Given the description of an element on the screen output the (x, y) to click on. 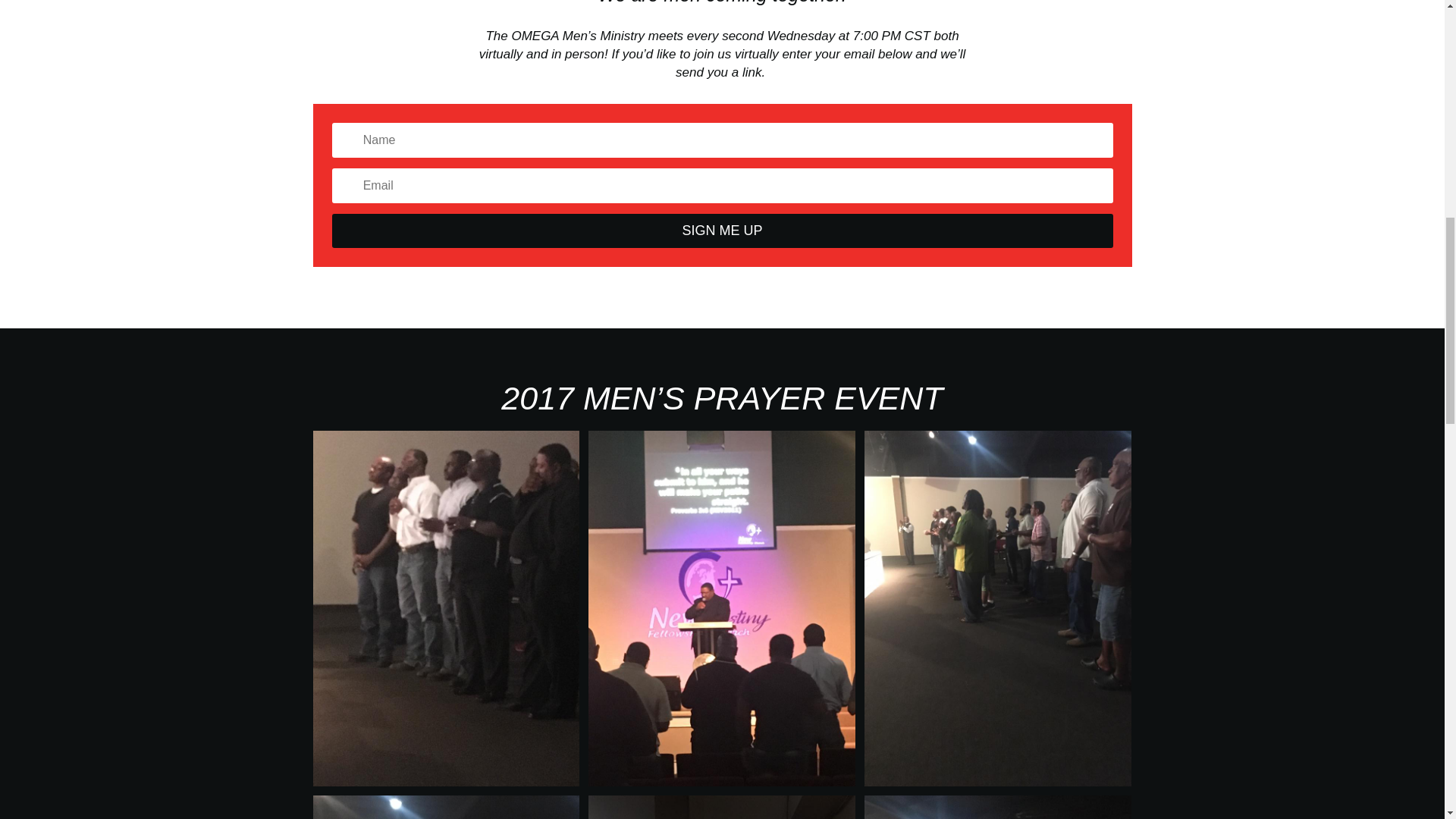
men (997, 807)
men (446, 807)
men (722, 807)
SIGN ME UP (722, 230)
